Given the description of an element on the screen output the (x, y) to click on. 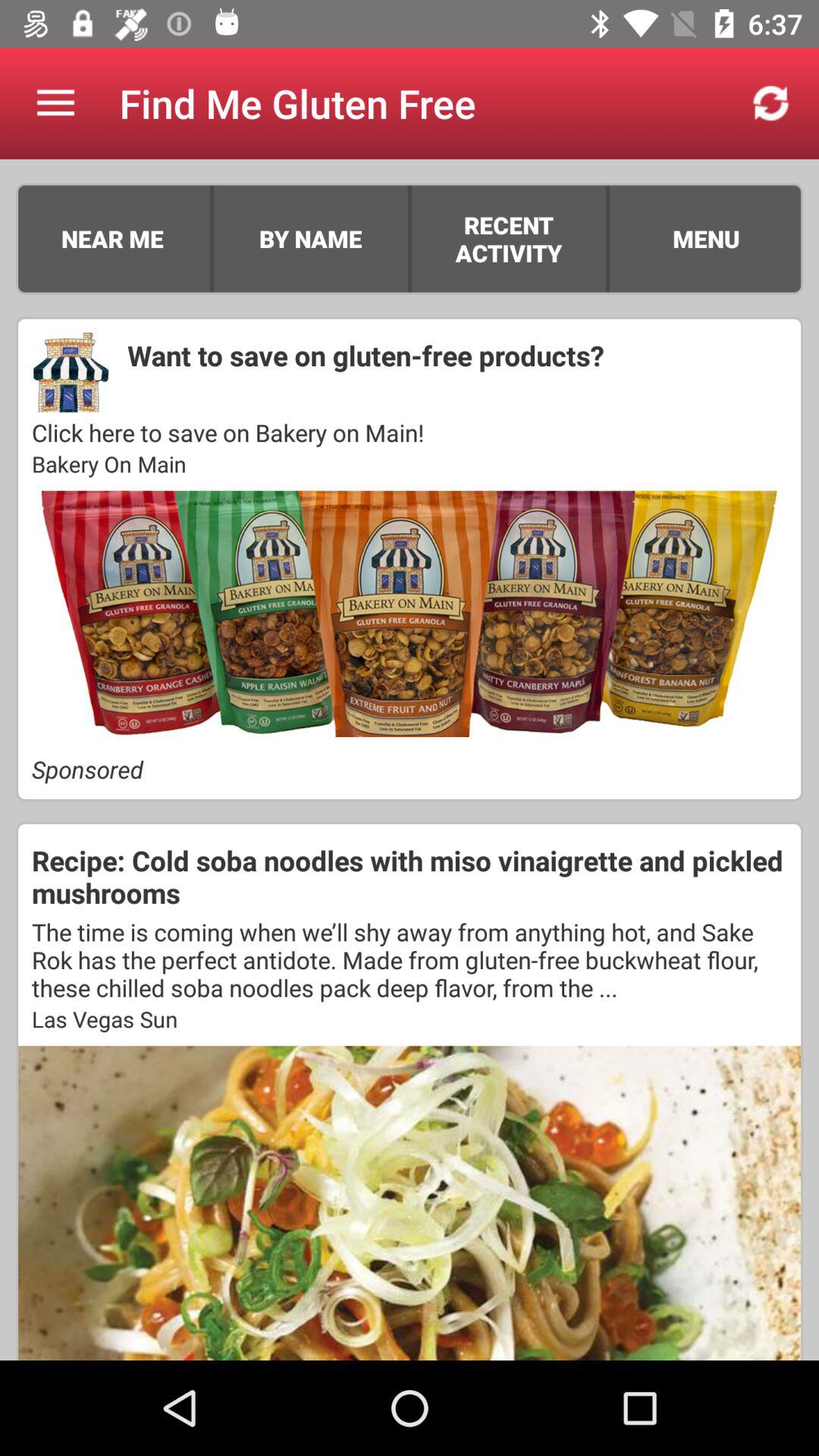
scroll until recipe cold soba item (409, 876)
